Given the description of an element on the screen output the (x, y) to click on. 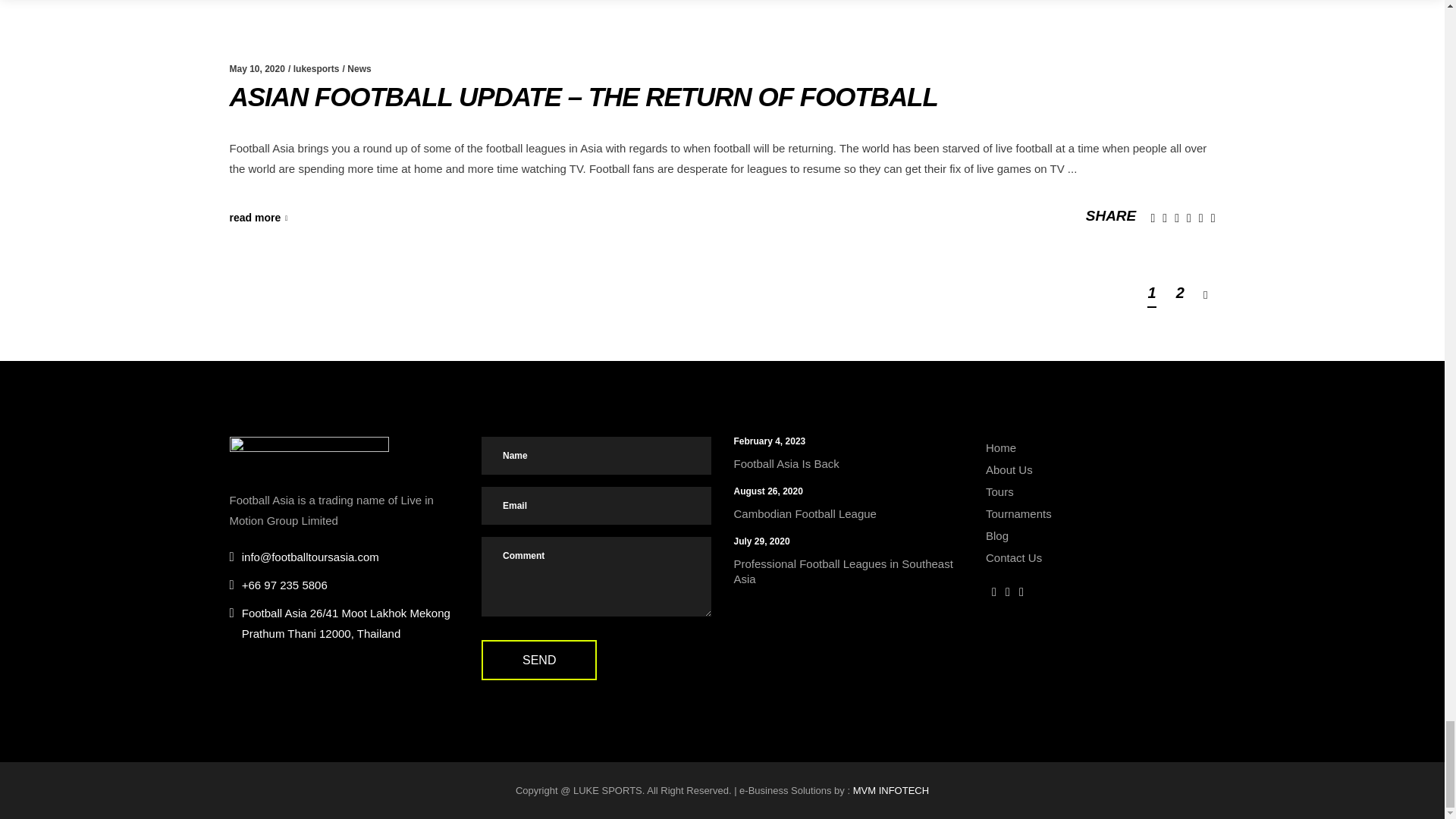
Send (538, 659)
